Given the description of an element on the screen output the (x, y) to click on. 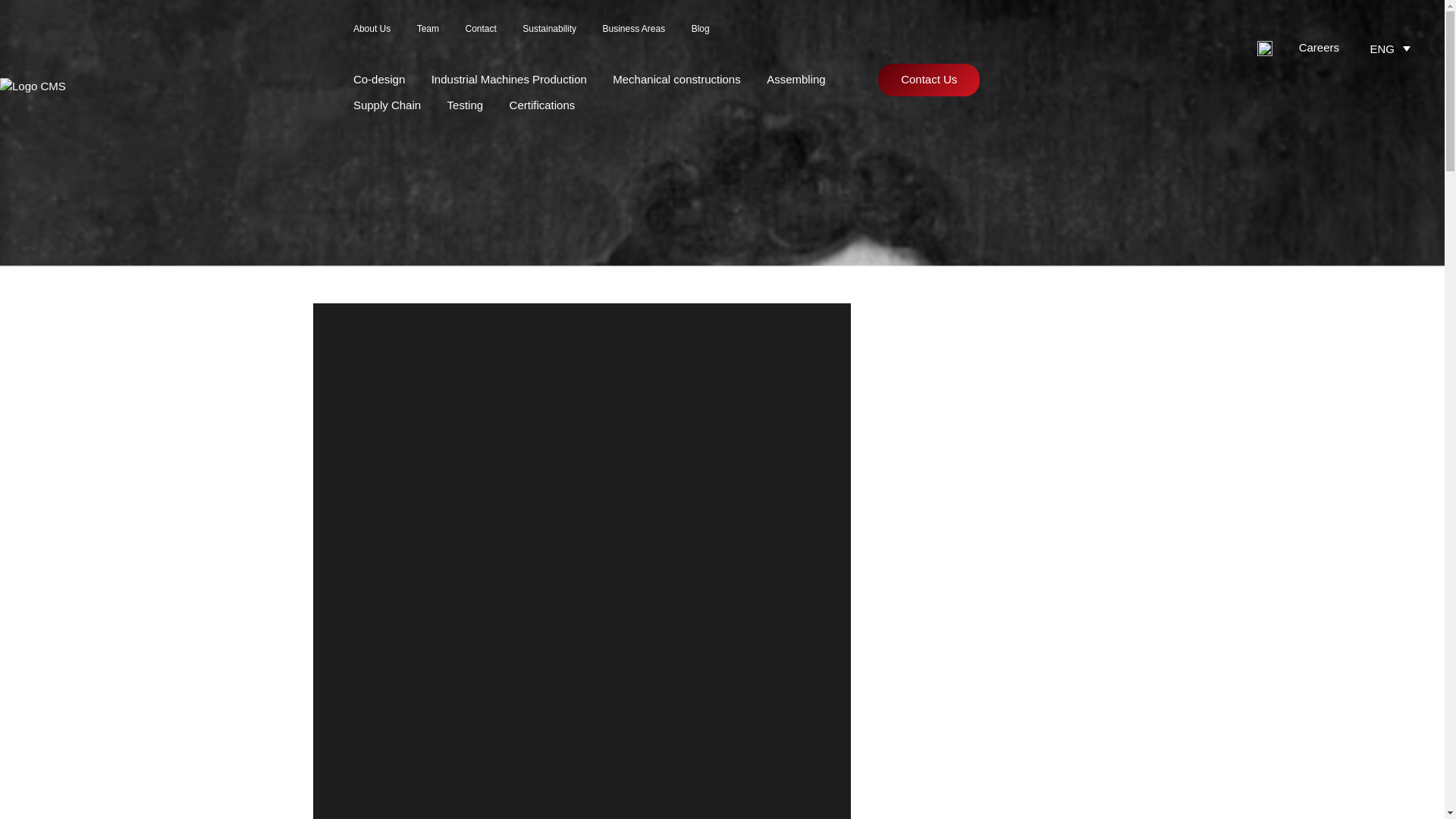
Assembling (796, 78)
Testing (464, 104)
Sustainability (549, 28)
Contact (480, 28)
Industrial Machines Production (508, 78)
About Us (371, 28)
Mechanical constructions (675, 78)
Contact Us (928, 79)
Team (427, 28)
Business Areas (633, 28)
Supply Chain (386, 104)
ENG (1391, 47)
Co-design (378, 78)
Blog (700, 28)
Careers (1318, 47)
